Given the description of an element on the screen output the (x, y) to click on. 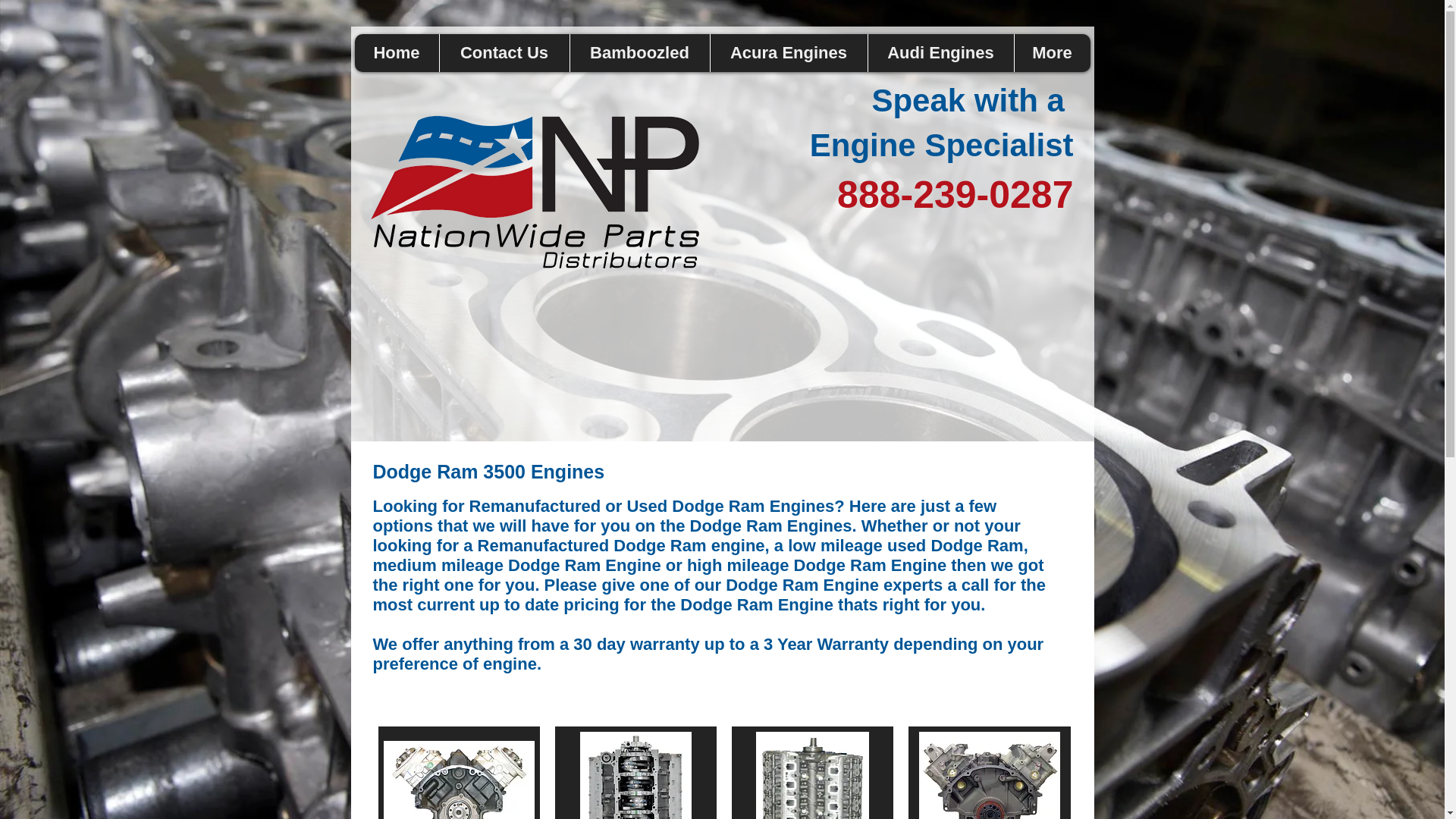
Audi Engines (940, 53)
Home (397, 53)
Contact Us (503, 53)
Acura Engines (788, 53)
Bamboozled (639, 53)
Rebuilt Engines Remanufactured Engines Used Engine (535, 199)
